Given the description of an element on the screen output the (x, y) to click on. 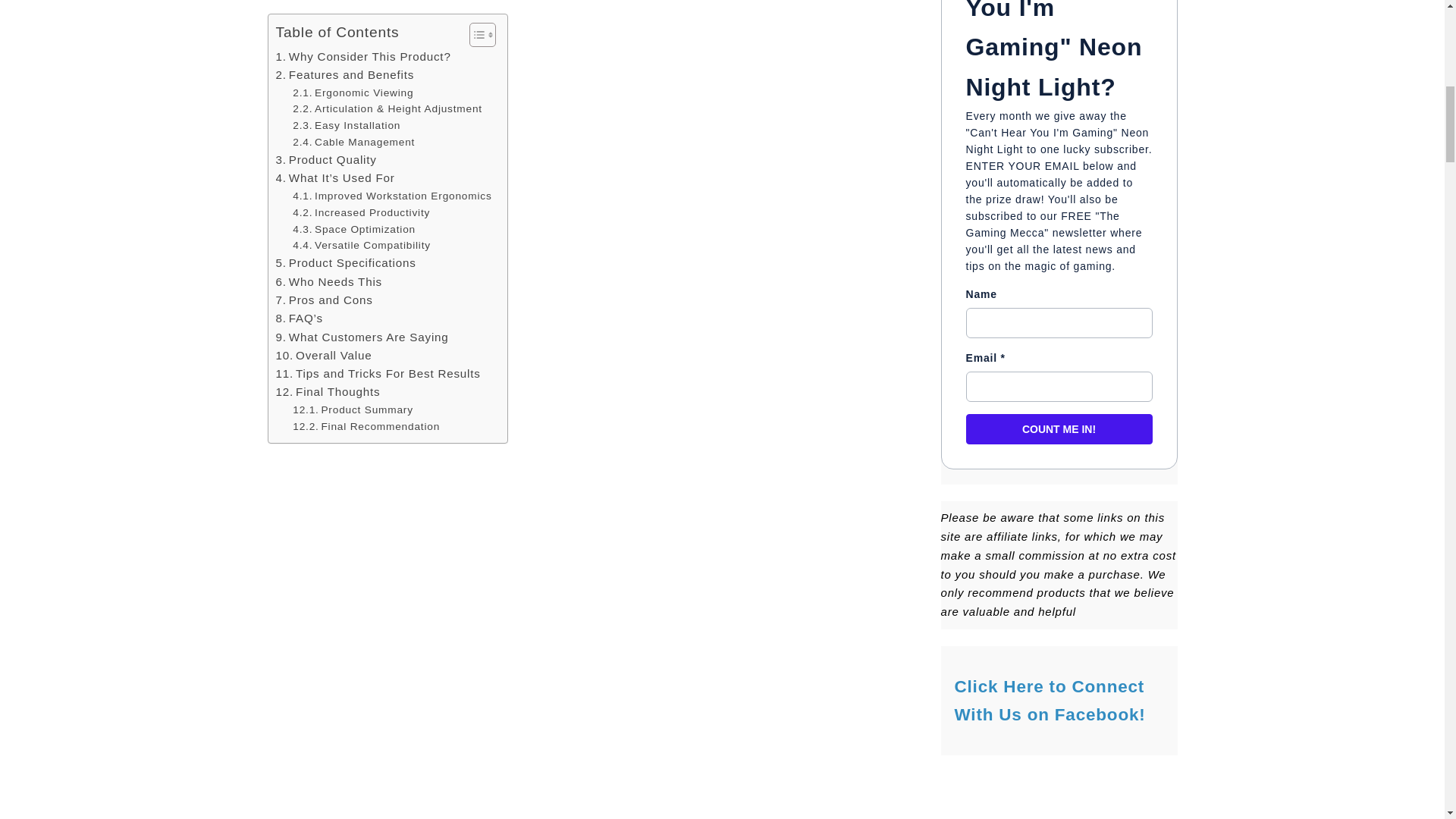
Easy Installation (346, 125)
Improved Workstation Ergonomics (392, 196)
Versatile Compatibility (361, 245)
Product Specifications (346, 262)
Versatile Compatibility (361, 245)
Product Quality (326, 159)
Cable Management (353, 142)
Who Needs This (329, 281)
Features and Benefits (345, 75)
Pros and Cons (324, 300)
Space Optimization (353, 229)
Why Consider This Product? (363, 56)
Increased Productivity (360, 212)
Ergonomic Viewing (352, 93)
Cable Management (353, 142)
